Given the description of an element on the screen output the (x, y) to click on. 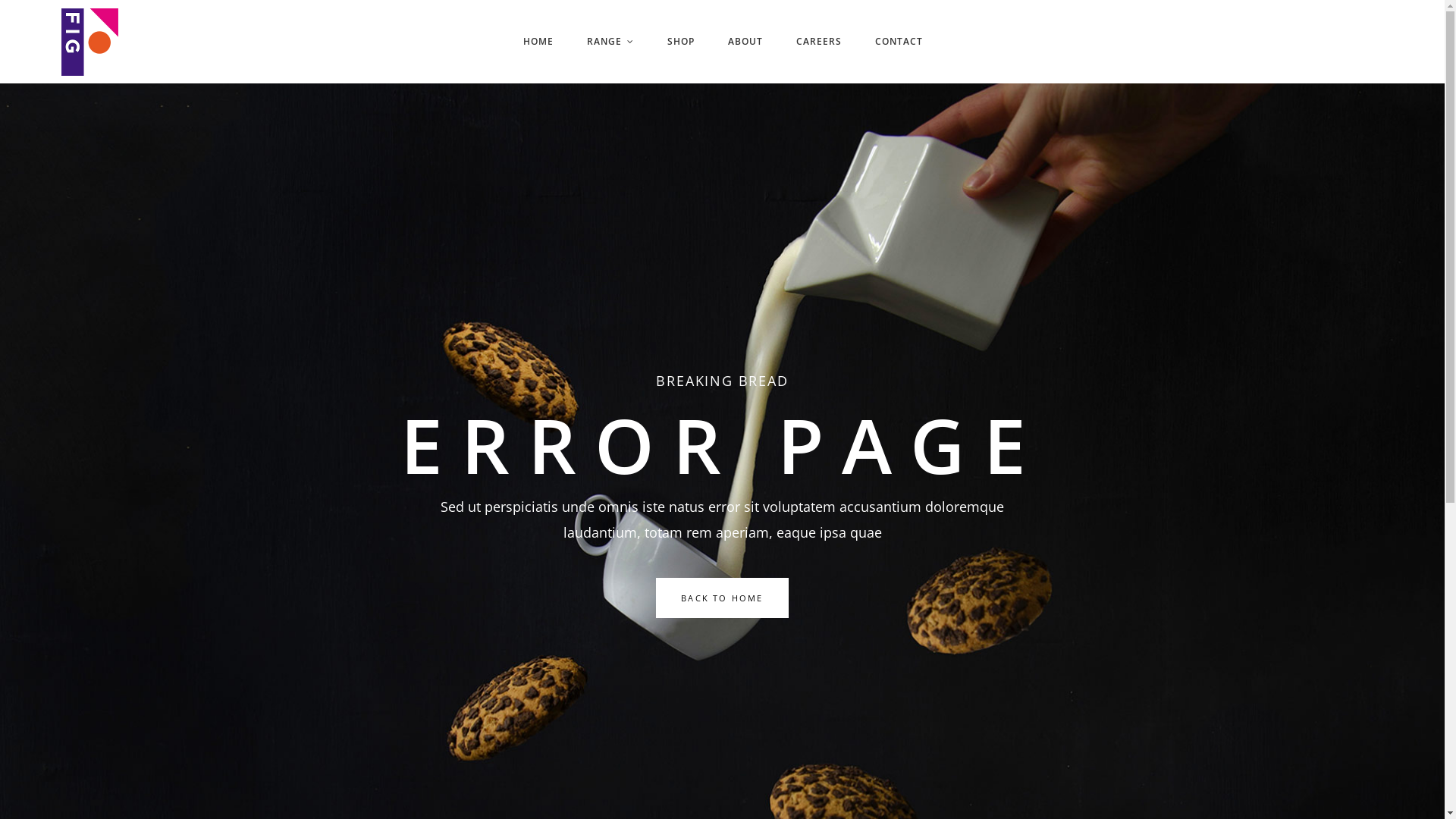
CAREERS Element type: text (818, 41)
HOME Element type: text (538, 41)
RANGE Element type: text (610, 41)
SHOP Element type: text (680, 41)
CONTACT Element type: text (898, 41)
BACK TO HOME Element type: text (721, 597)
ABOUT Element type: text (745, 41)
